Given the description of an element on the screen output the (x, y) to click on. 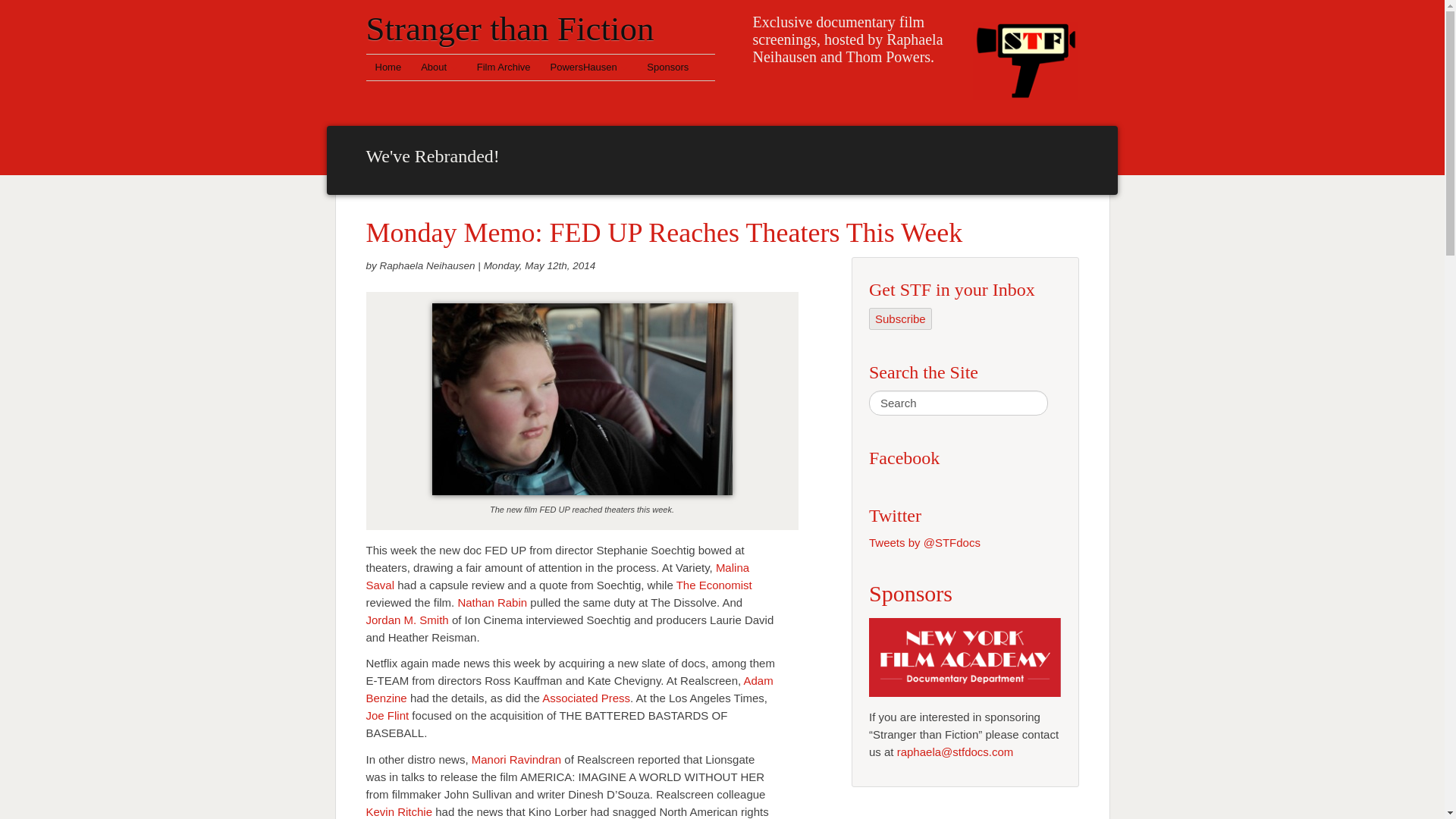
Search (958, 402)
Sponsors (667, 67)
PowersHausen (589, 67)
Search (958, 402)
Stranger than Fiction (1025, 56)
About (438, 67)
Stranger than Fiction (509, 28)
Film Archive (503, 67)
Home (387, 67)
Stranger than Fiction (509, 28)
